Given the description of an element on the screen output the (x, y) to click on. 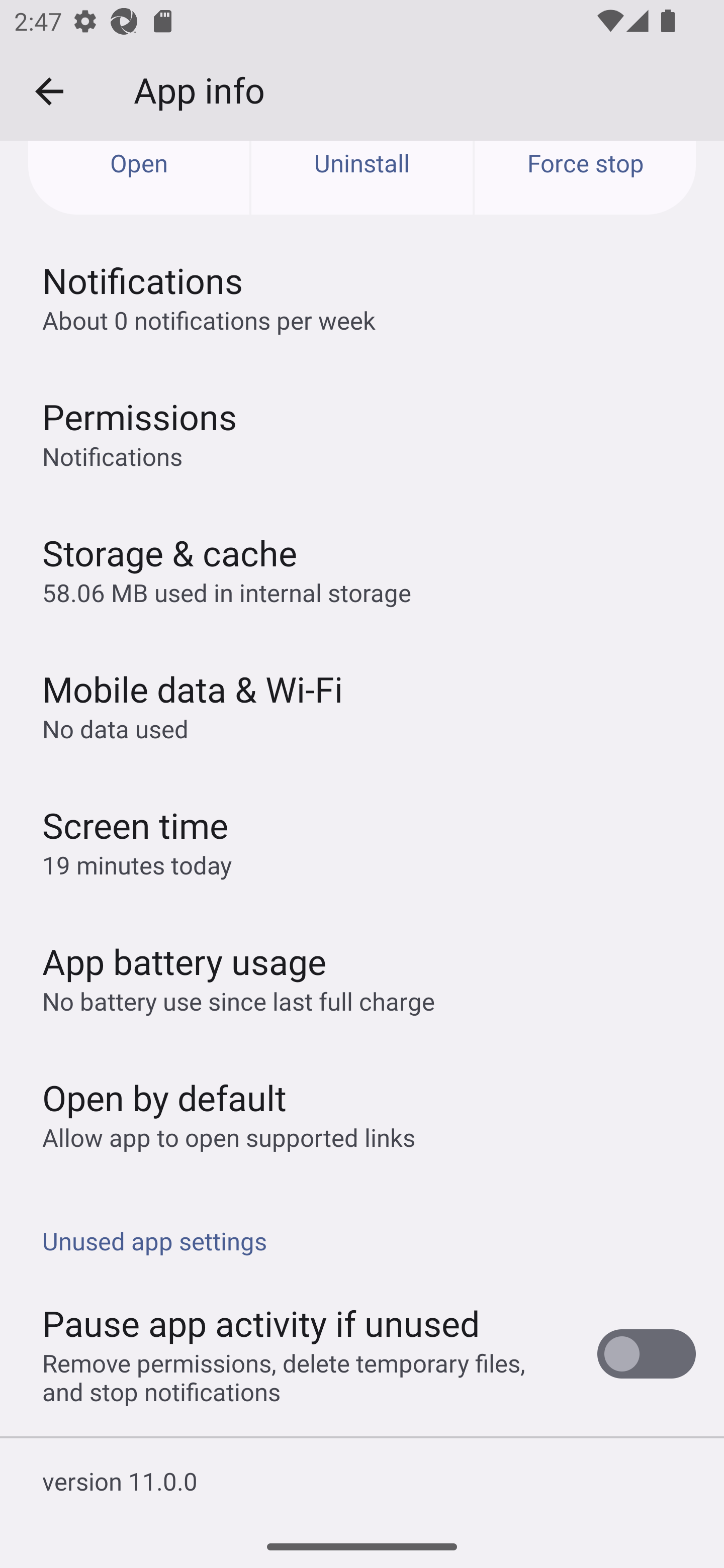
Navigate up (49, 91)
Open (138, 177)
Uninstall (361, 177)
Force stop (584, 177)
Notifications About 0 notifications per week (362, 296)
Permissions Notifications (362, 433)
Storage & cache 58.06 MB used in internal storage (362, 568)
Mobile data & Wi‑Fi No data used (362, 704)
Screen time 19 minutes today (362, 841)
Open by default Allow app to open supported links (362, 1113)
